Given the description of an element on the screen output the (x, y) to click on. 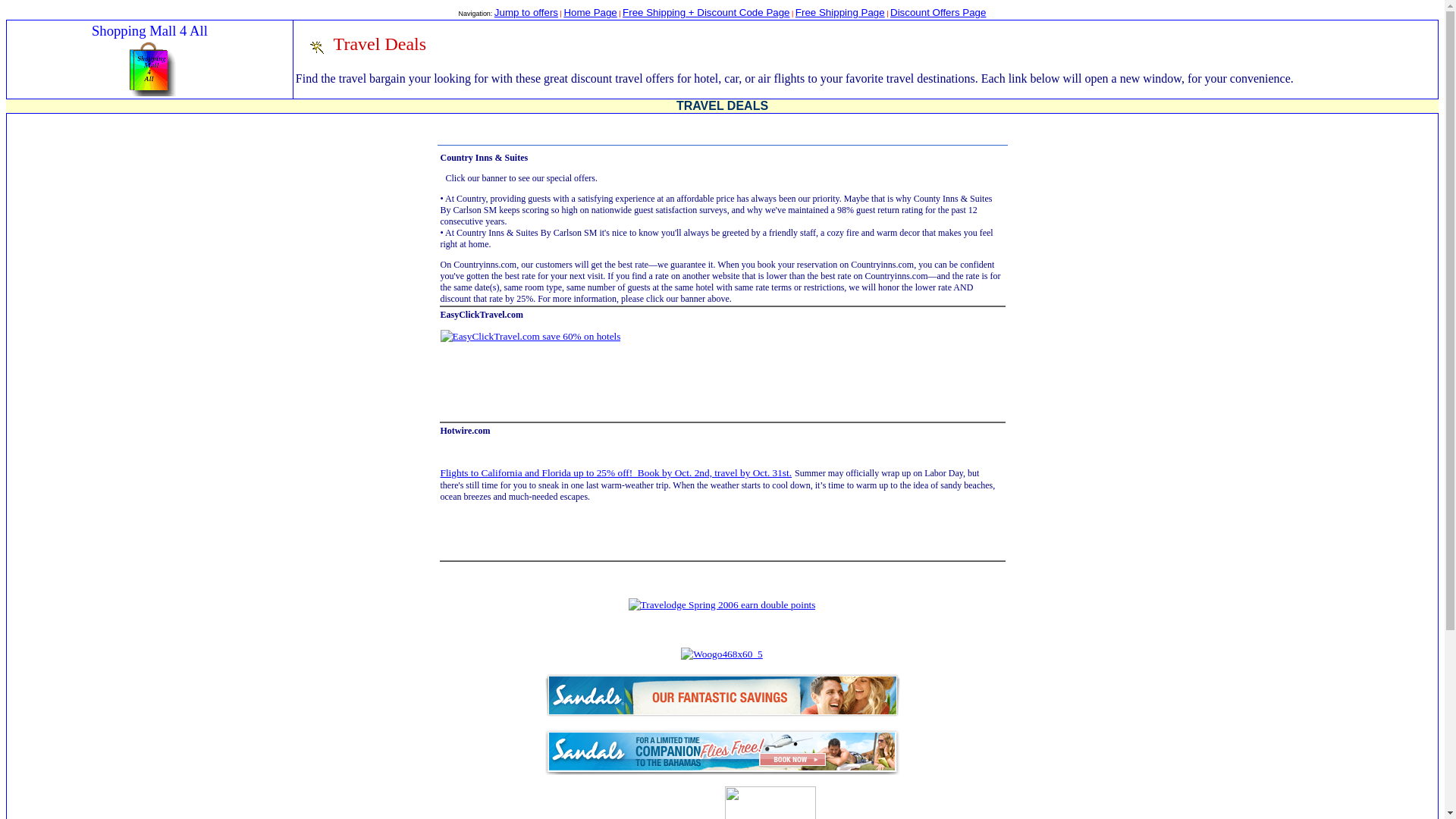
Free Shipping Page (839, 12)
Jump to offers (526, 12)
Discount Offers Page (937, 12)
Home Page (589, 12)
